Given the description of an element on the screen output the (x, y) to click on. 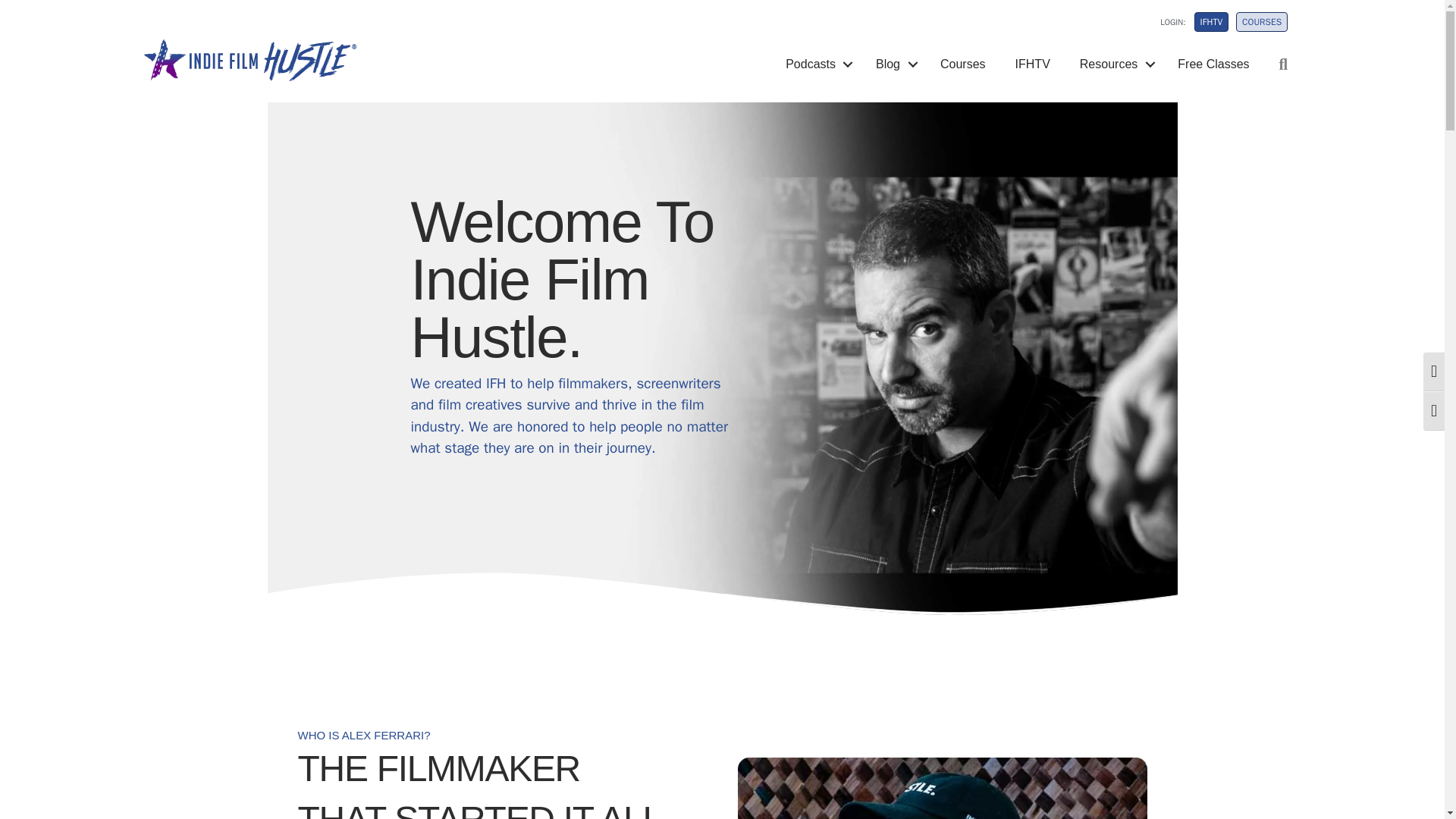
IFHTV (1032, 64)
LOGIN: (1163, 26)
Courses (963, 64)
Free Classes (1213, 64)
IFHTV (1210, 21)
COURSES (1261, 21)
Resources (1113, 64)
Blog (892, 64)
Podcasts (815, 64)
